Given the description of an element on the screen output the (x, y) to click on. 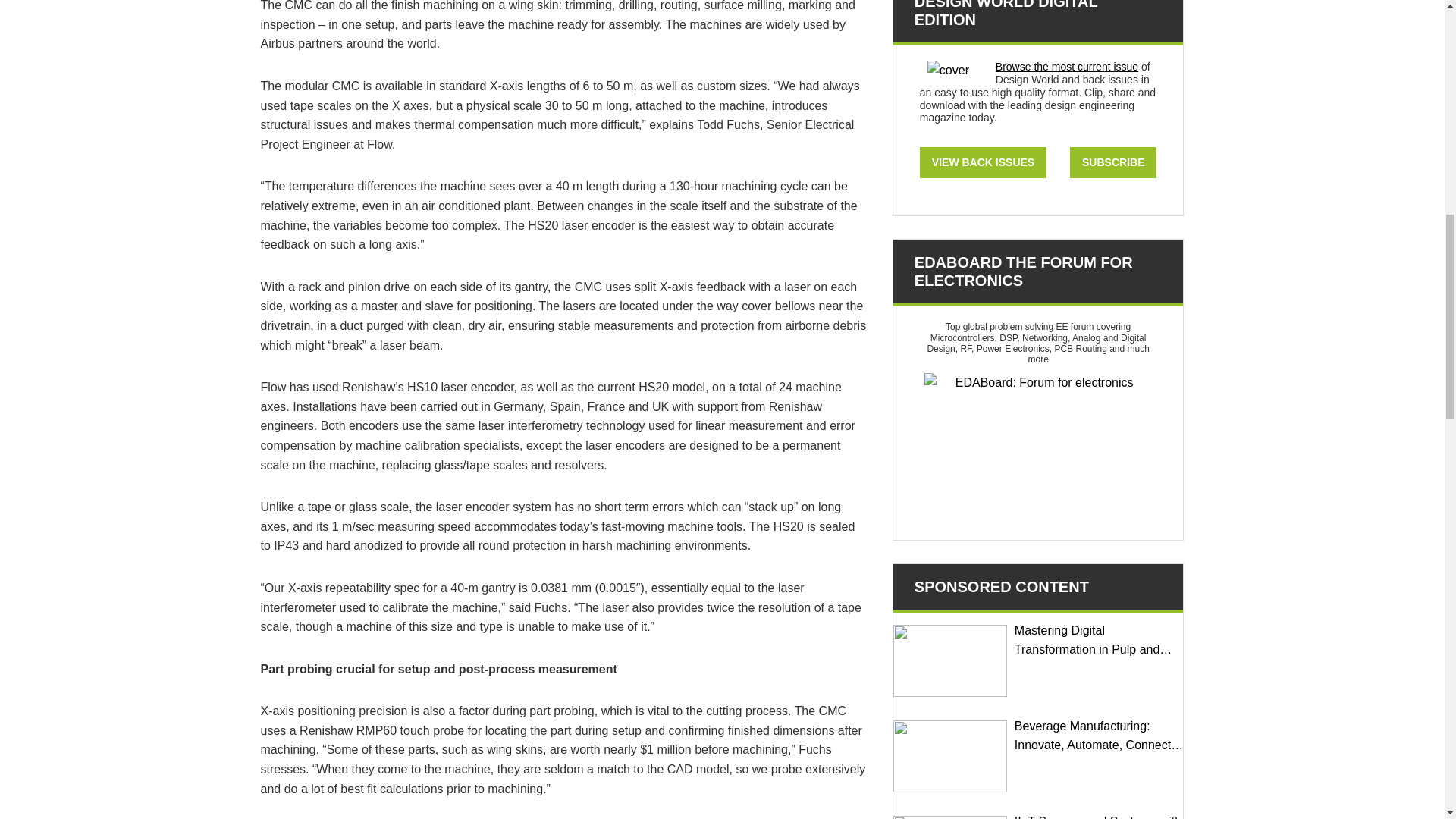
Beverage Manufacturing: Innovate, Automate, Connect, Grow (950, 756)
IIoT Sensors and Systems with IO-LINK (950, 817)
Mastering Digital Transformation in Pulp and Paper (950, 660)
EDABoard: Forum for electronics (1037, 448)
